Given the description of an element on the screen output the (x, y) to click on. 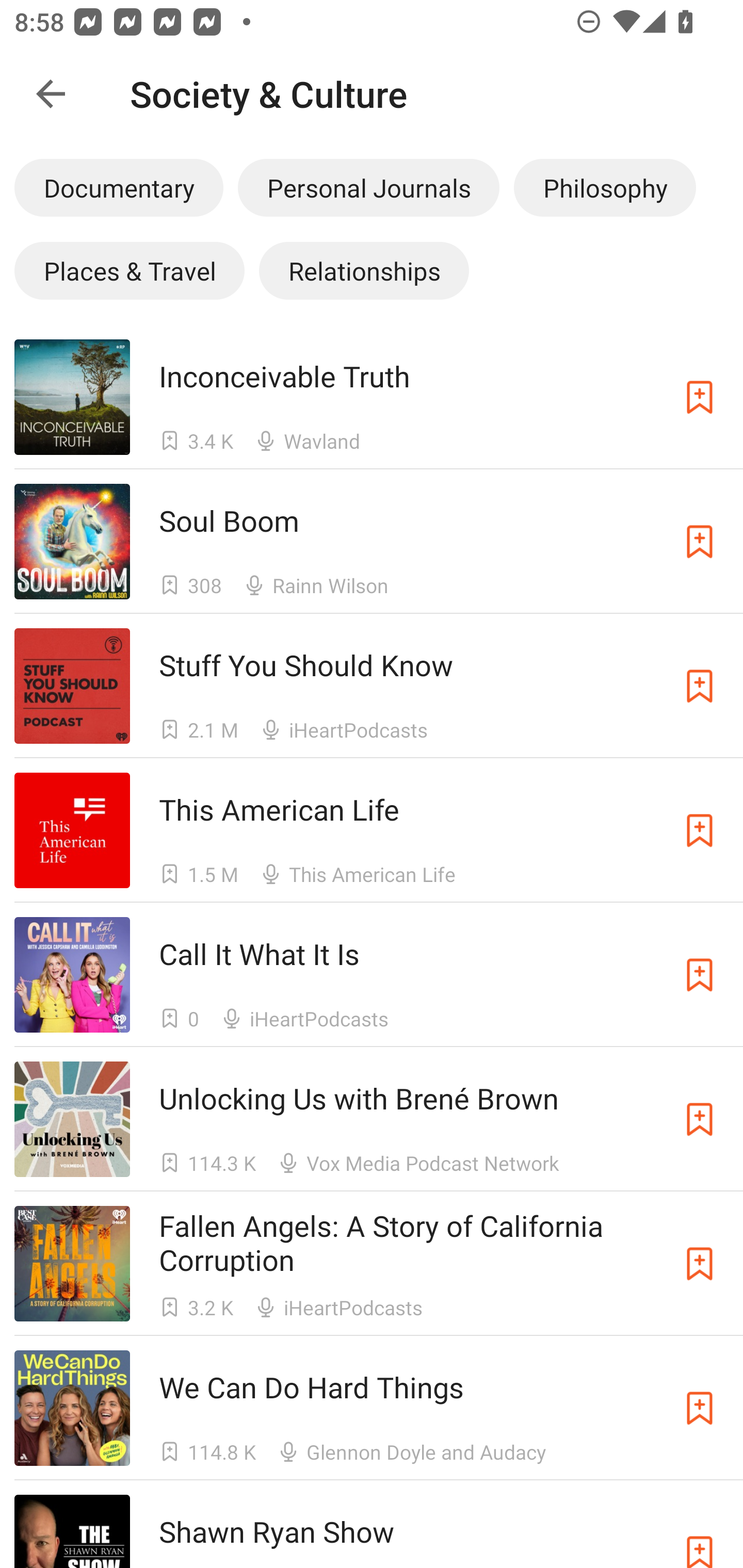
Navigate up (50, 93)
Documentary (118, 187)
Personal Journals (368, 187)
Philosophy (605, 187)
Places & Travel (129, 270)
Relationships (363, 270)
Subscribe (699, 396)
Soul Boom Soul Boom  308  Rainn Wilson Subscribe (371, 540)
Subscribe (699, 541)
Subscribe (699, 685)
Subscribe (699, 830)
Subscribe (699, 975)
Subscribe (699, 1119)
Subscribe (699, 1263)
Subscribe (699, 1408)
Shawn Ryan Show Shawn Ryan Show Subscribe (371, 1524)
Subscribe (699, 1531)
